Given the description of an element on the screen output the (x, y) to click on. 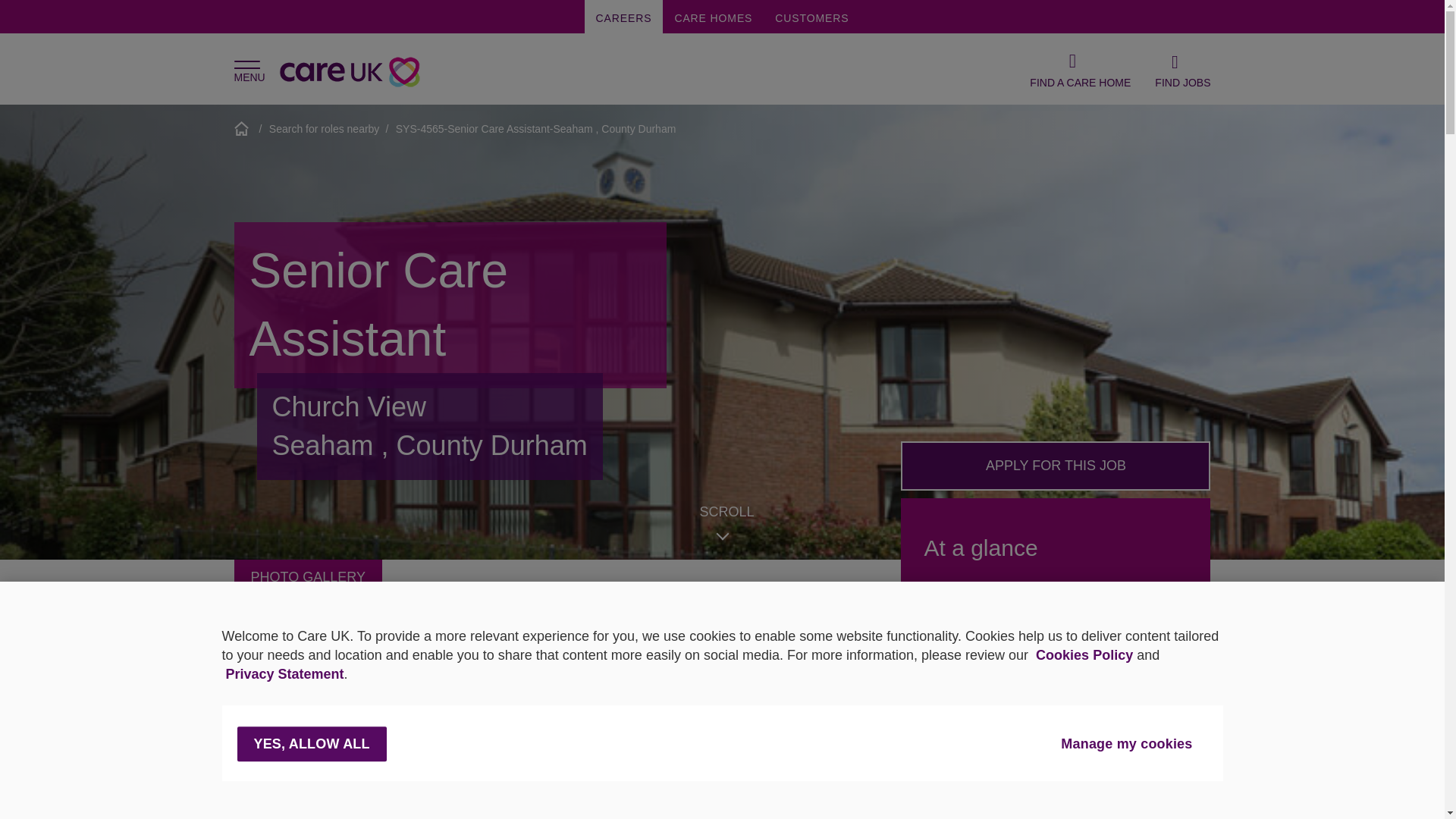
FIND JOBS (1181, 68)
SCROLL (726, 511)
FIND A CARE HOME (1080, 68)
CAREERS (624, 16)
home (241, 128)
CUSTOMERS (811, 16)
CARE HOMES (712, 16)
